Given the description of an element on the screen output the (x, y) to click on. 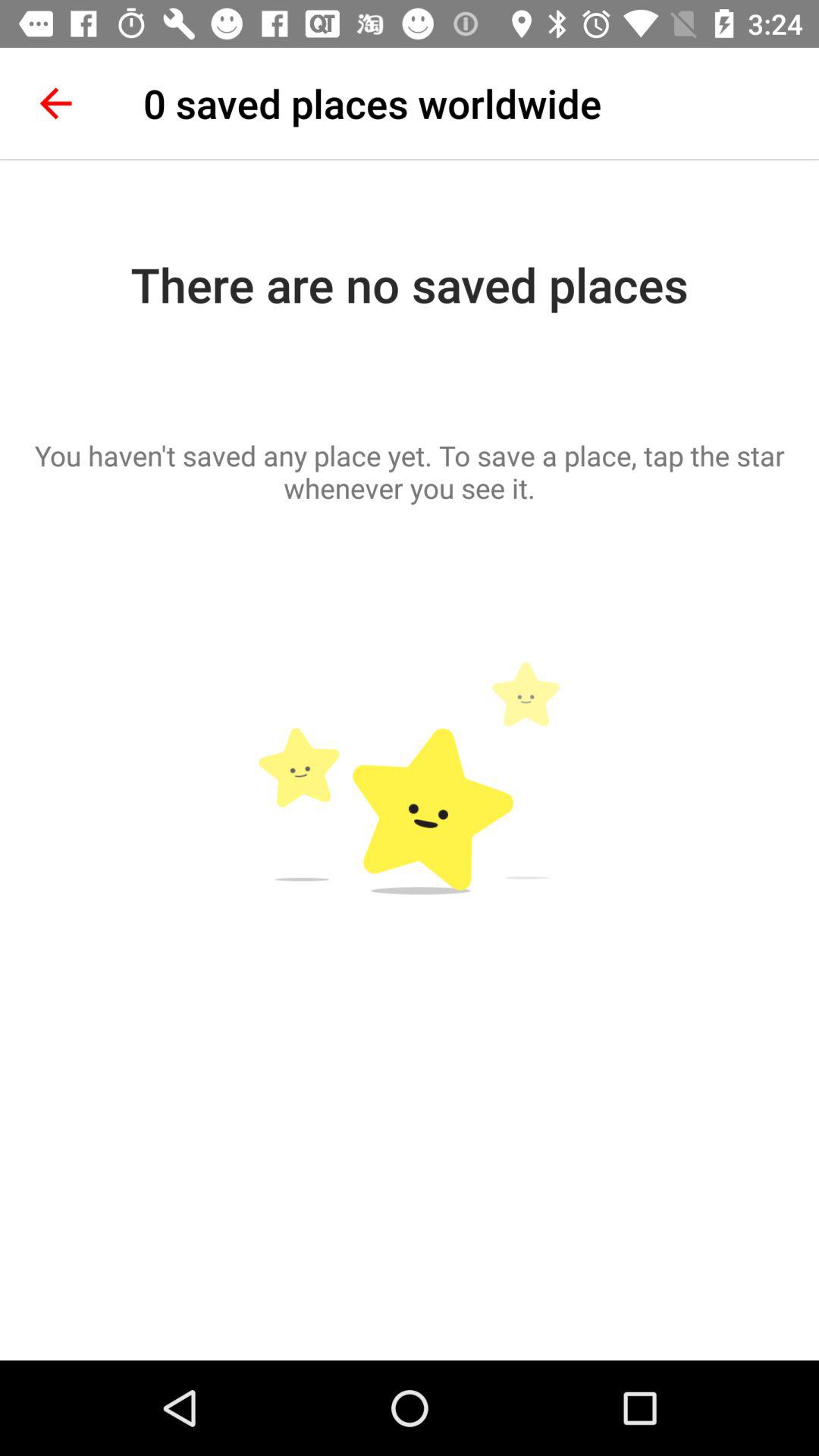
select icon at the top left corner (55, 103)
